Given the description of an element on the screen output the (x, y) to click on. 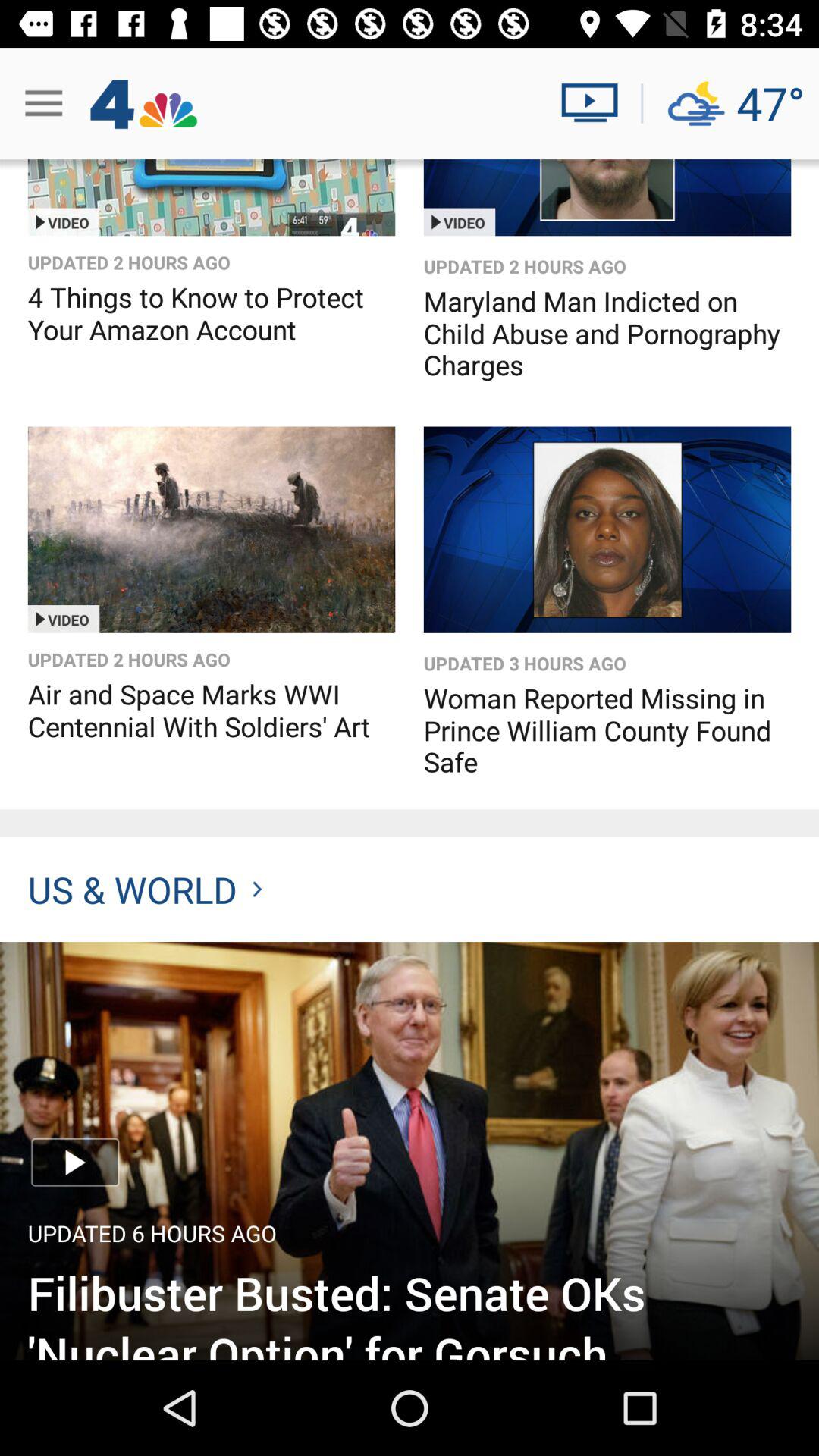
play video (211, 529)
